Given the description of an element on the screen output the (x, y) to click on. 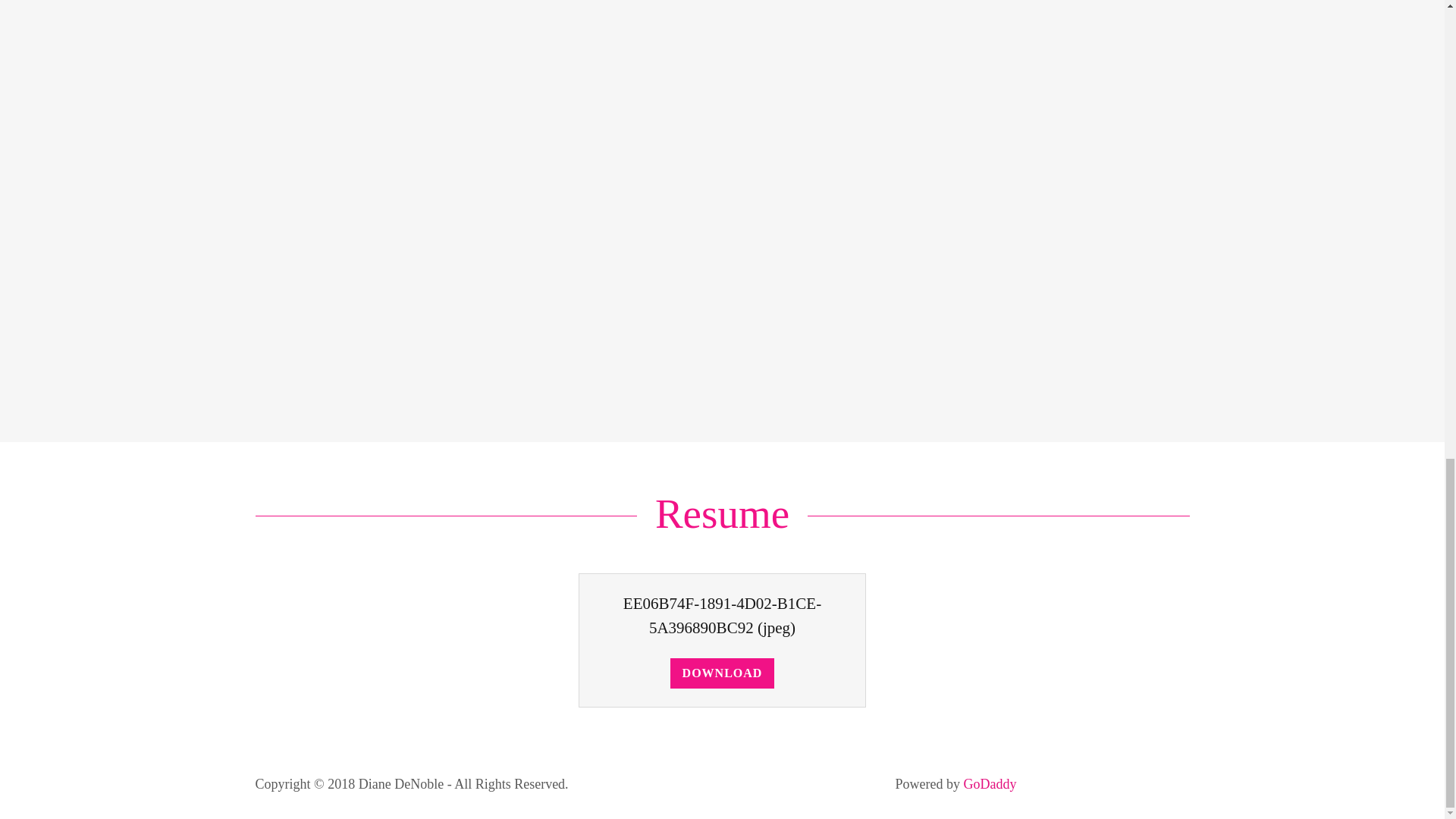
GoDaddy (989, 783)
DOWNLOAD (721, 673)
